Given the description of an element on the screen output the (x, y) to click on. 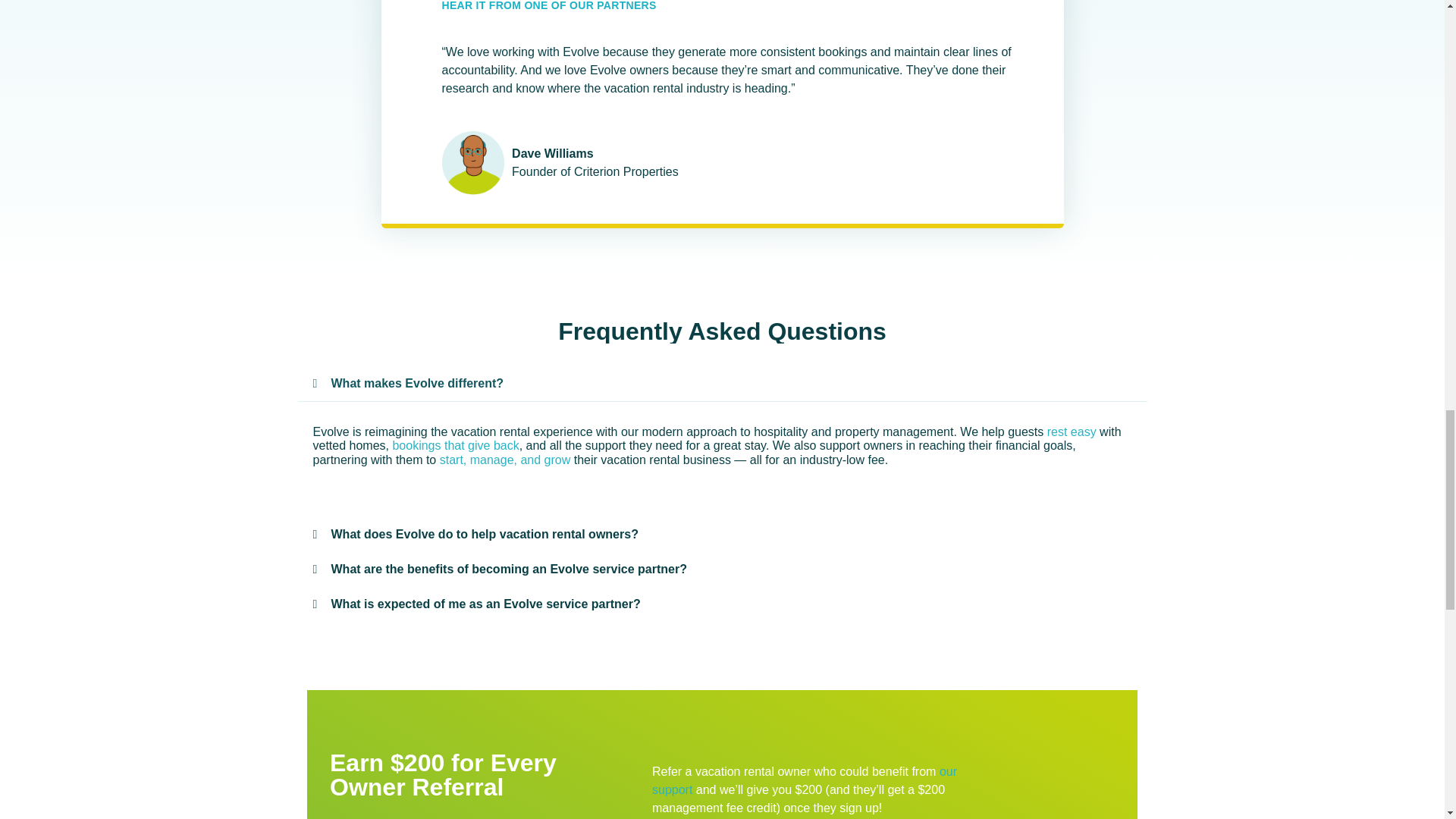
What does Evolve do to help vacation rental owners? (483, 533)
What makes Evolve different? (416, 382)
What is expected of me as an Evolve service partner? (485, 603)
people-avatar-testimonial-green (472, 162)
What are the benefits of becoming an Evolve service partner? (507, 568)
bookings that give back (454, 445)
rest easy (1071, 431)
start, manage, and grow (504, 459)
our support (804, 780)
